Given the description of an element on the screen output the (x, y) to click on. 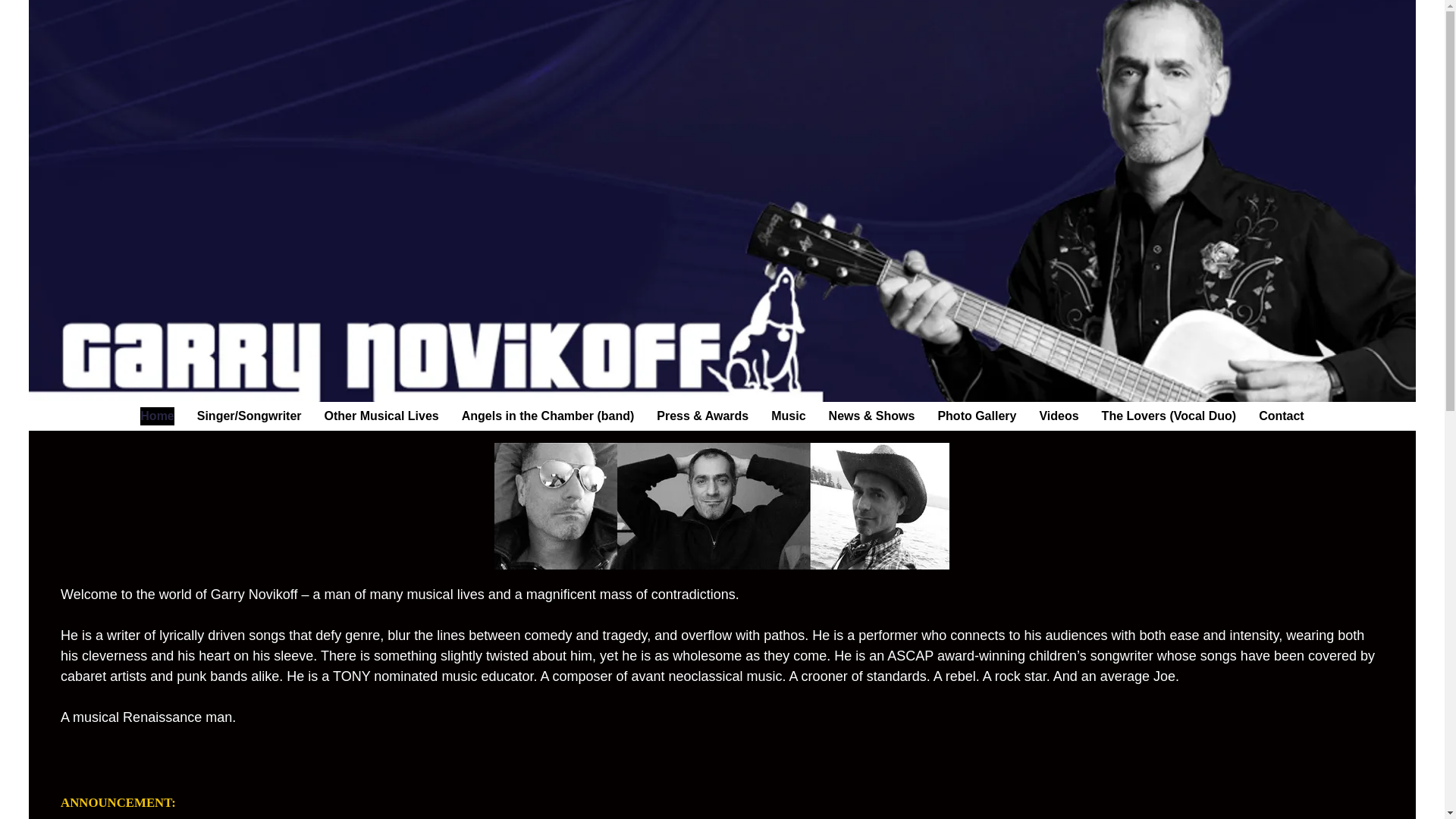
Home (156, 416)
Photo Gallery (976, 416)
Music (788, 416)
Other Musical Lives (381, 416)
Videos (1058, 416)
Contact (1281, 416)
